Given the description of an element on the screen output the (x, y) to click on. 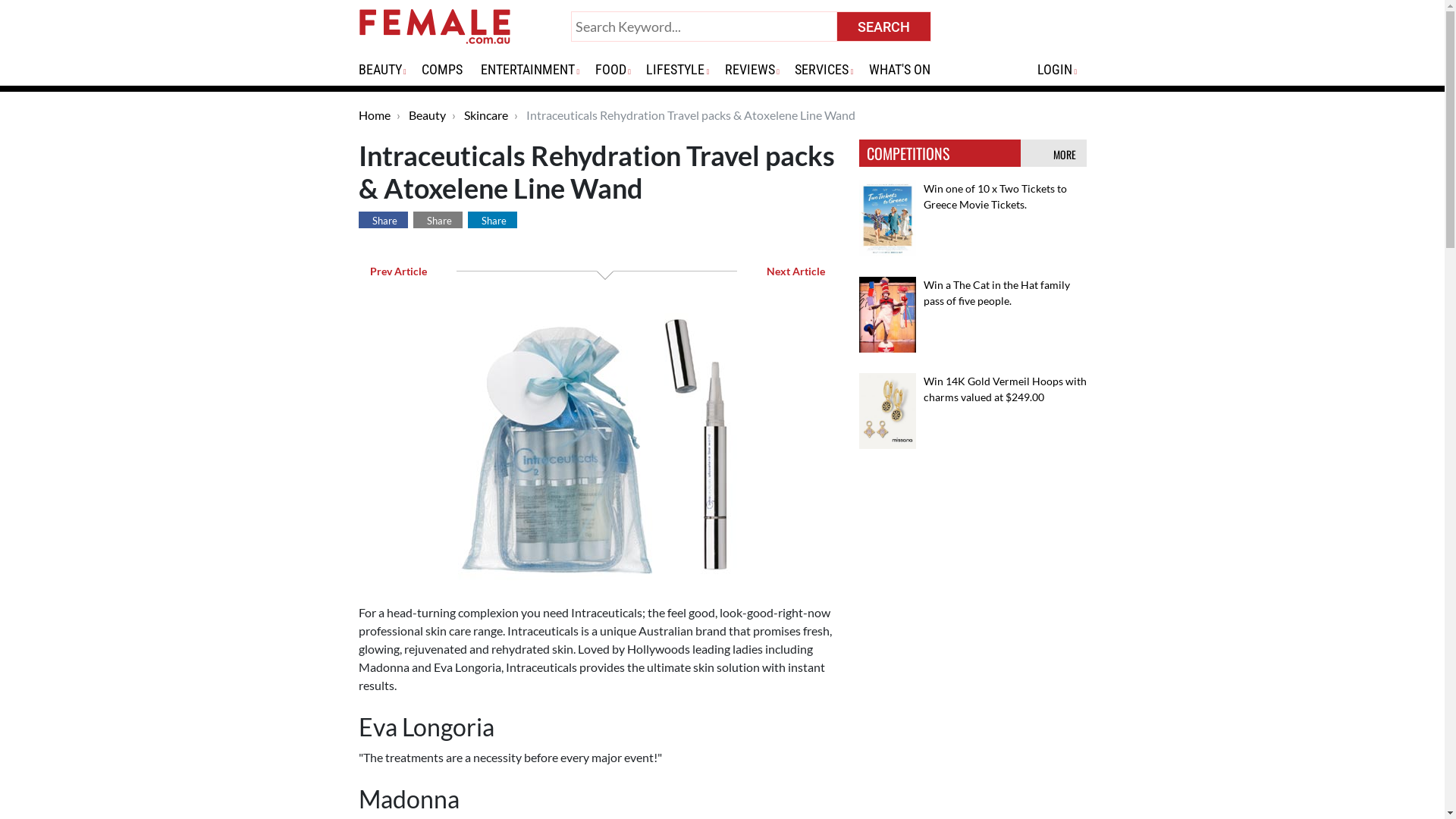
COMPS Element type: text (447, 69)
Win a The Cat in the Hat family pass of five people. Element type: text (996, 292)
Share Element type: text (491, 219)
WHAT'S ON Element type: text (905, 69)
SERVICES Element type: text (828, 69)
Win one of 10 x Two Tickets to Greece Movie Tickets. Element type: text (994, 196)
FOOD Element type: text (617, 69)
  Prev Article Element type: text (395, 270)
COMPETITIONS Element type: text (907, 152)
Home Element type: text (373, 114)
REVIEWS Element type: text (756, 69)
LIFESTYLE Element type: text (682, 69)
SEARCH Element type: text (884, 26)
BEAUTY Element type: text (386, 69)
Beauty Element type: text (426, 114)
Share Element type: text (436, 219)
SEARCH Element type: hover (884, 26)
Share Element type: text (382, 219)
MORE   Element type: text (1065, 154)
Next Article   Element type: text (797, 270)
ENTERTAINMENT Element type: text (534, 69)
LOGIN Element type: text (1061, 69)
Win 14K Gold Vermeil Hoops with charms valued at $249.00 Element type: text (1004, 388)
Skincare Element type: text (486, 114)
